Given the description of an element on the screen output the (x, y) to click on. 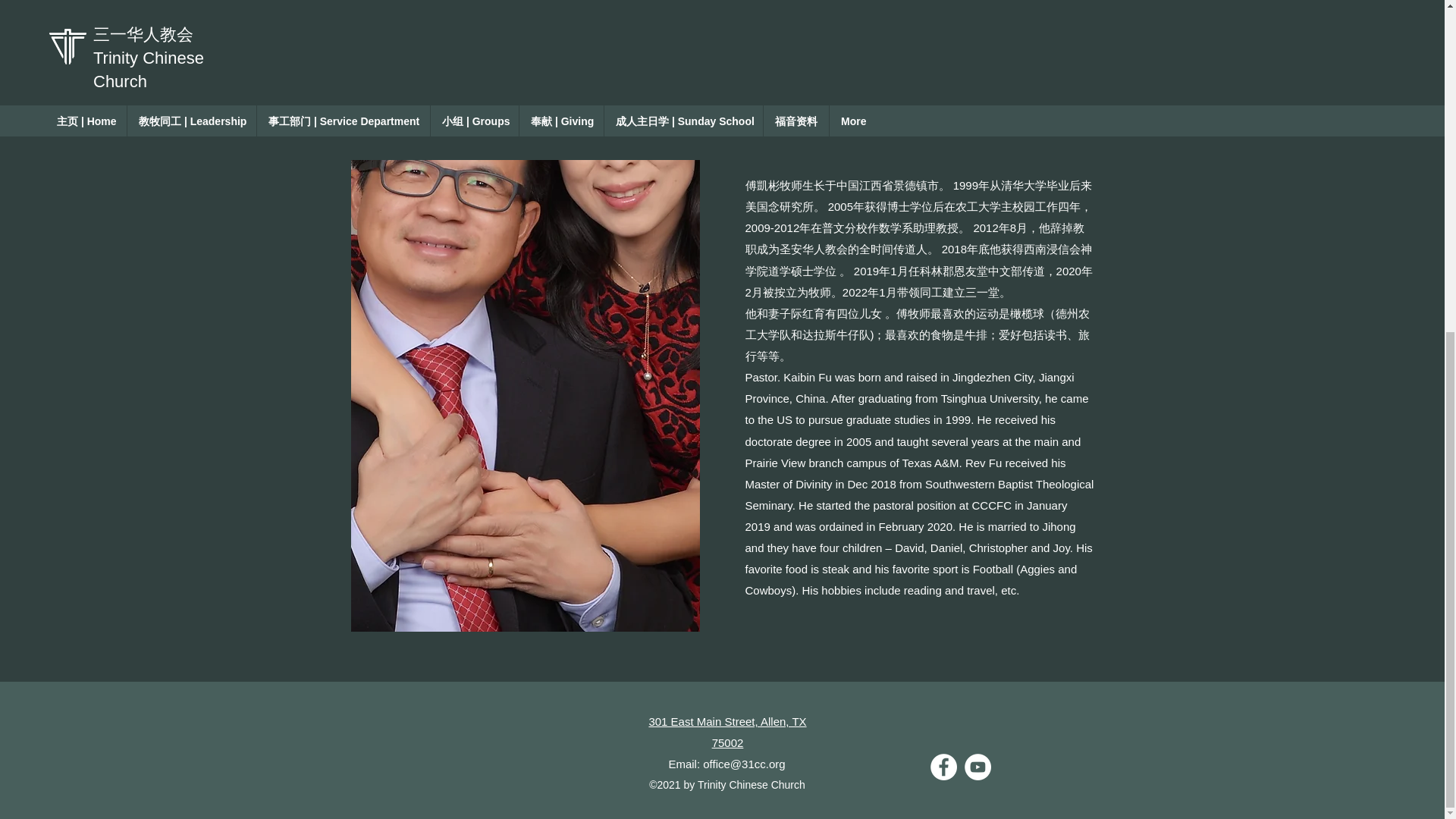
301 East Main Street, Allen, TX 75002 (726, 731)
